Given the description of an element on the screen output the (x, y) to click on. 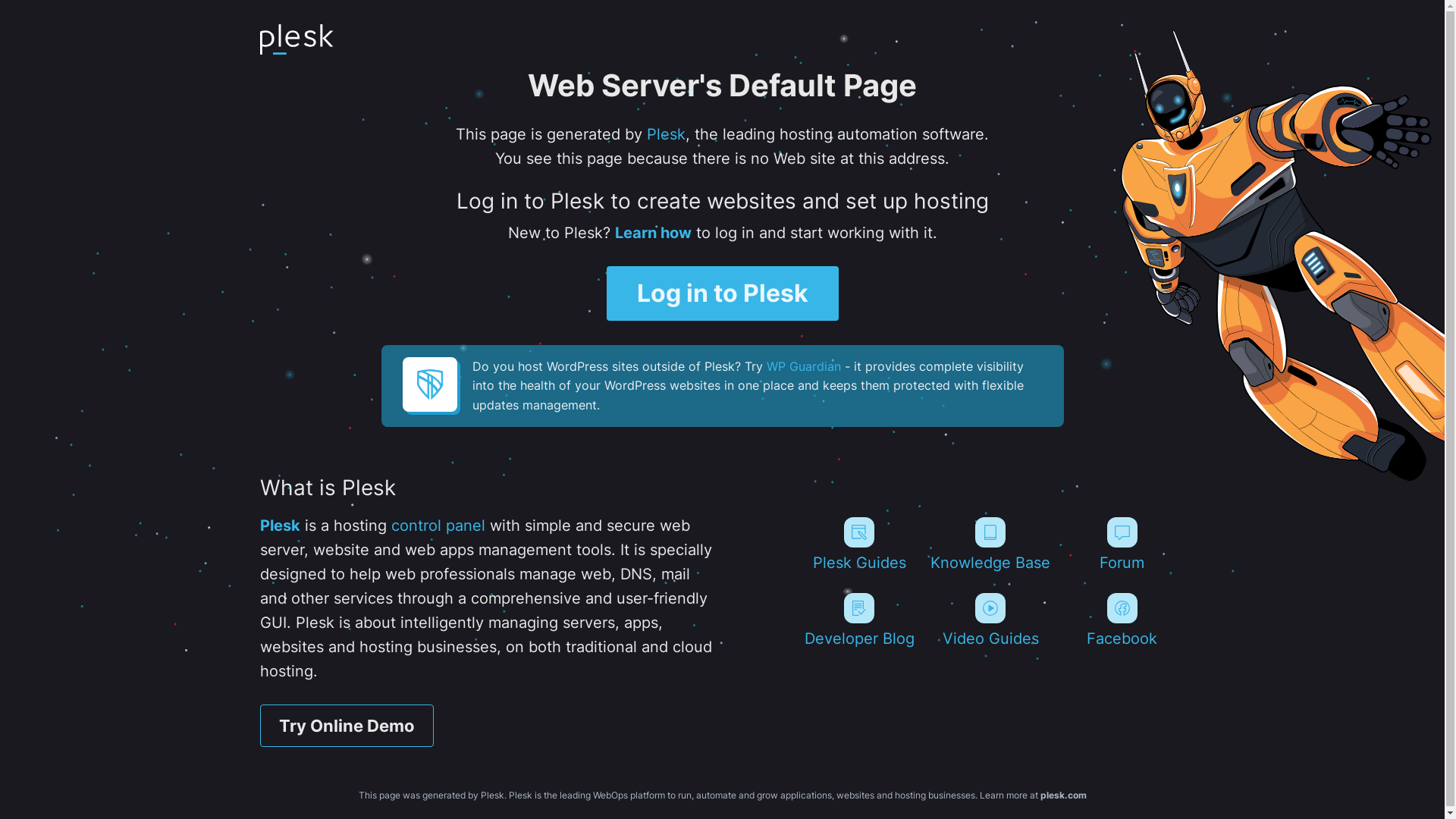
Plesk Element type: text (665, 134)
Developer Blog Element type: text (858, 620)
Plesk Guides Element type: text (858, 544)
Plesk Element type: text (279, 525)
Facebook Element type: text (1121, 620)
control panel Element type: text (438, 525)
Try Online Demo Element type: text (346, 725)
Video Guides Element type: text (990, 620)
WP Guardian Element type: text (802, 365)
Knowledge Base Element type: text (990, 544)
Log in to Plesk Element type: text (722, 293)
Learn how Element type: text (652, 232)
plesk.com Element type: text (1063, 794)
Forum Element type: text (1121, 544)
